Given the description of an element on the screen output the (x, y) to click on. 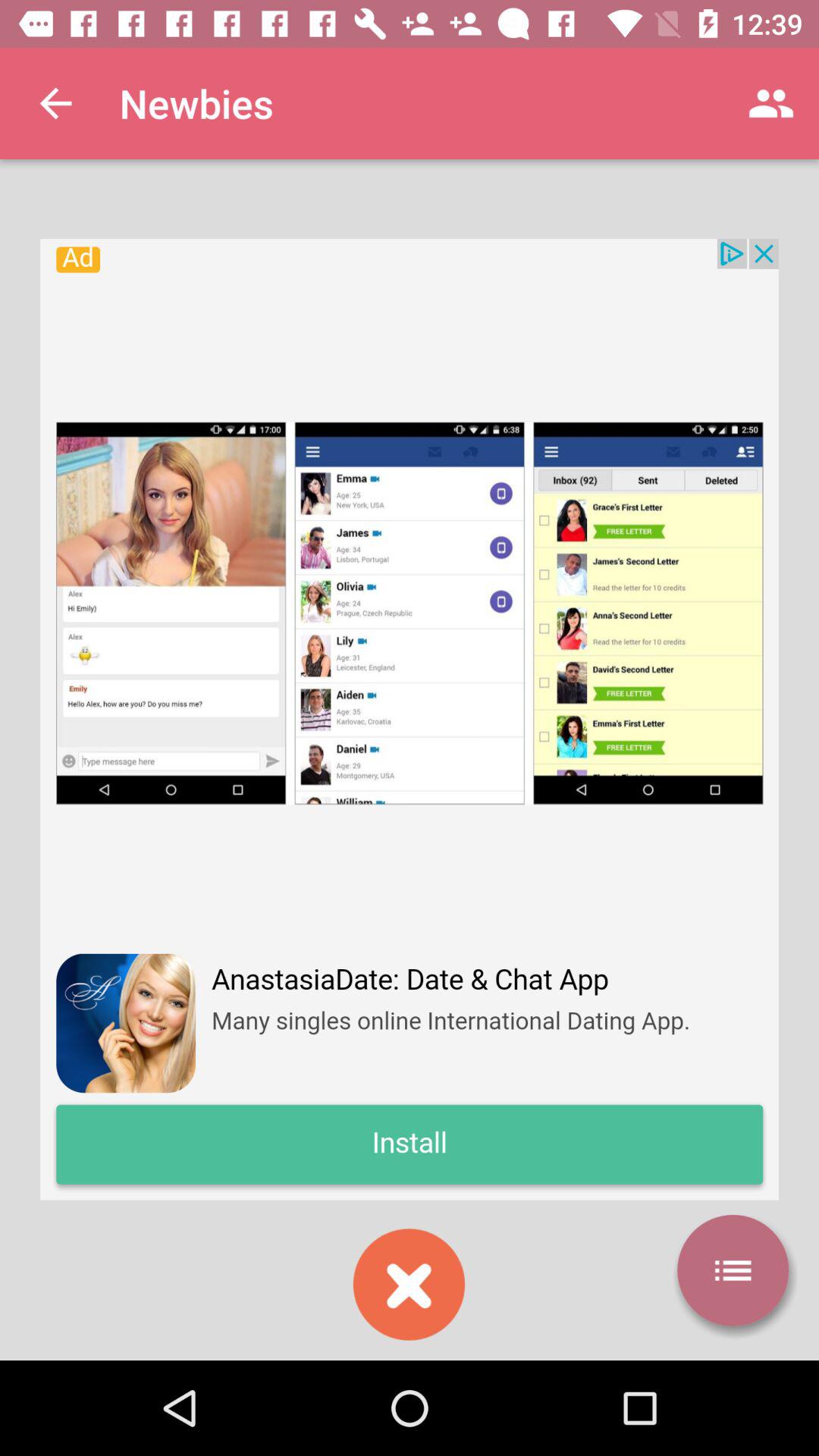
go to close (409, 1284)
